Given the description of an element on the screen output the (x, y) to click on. 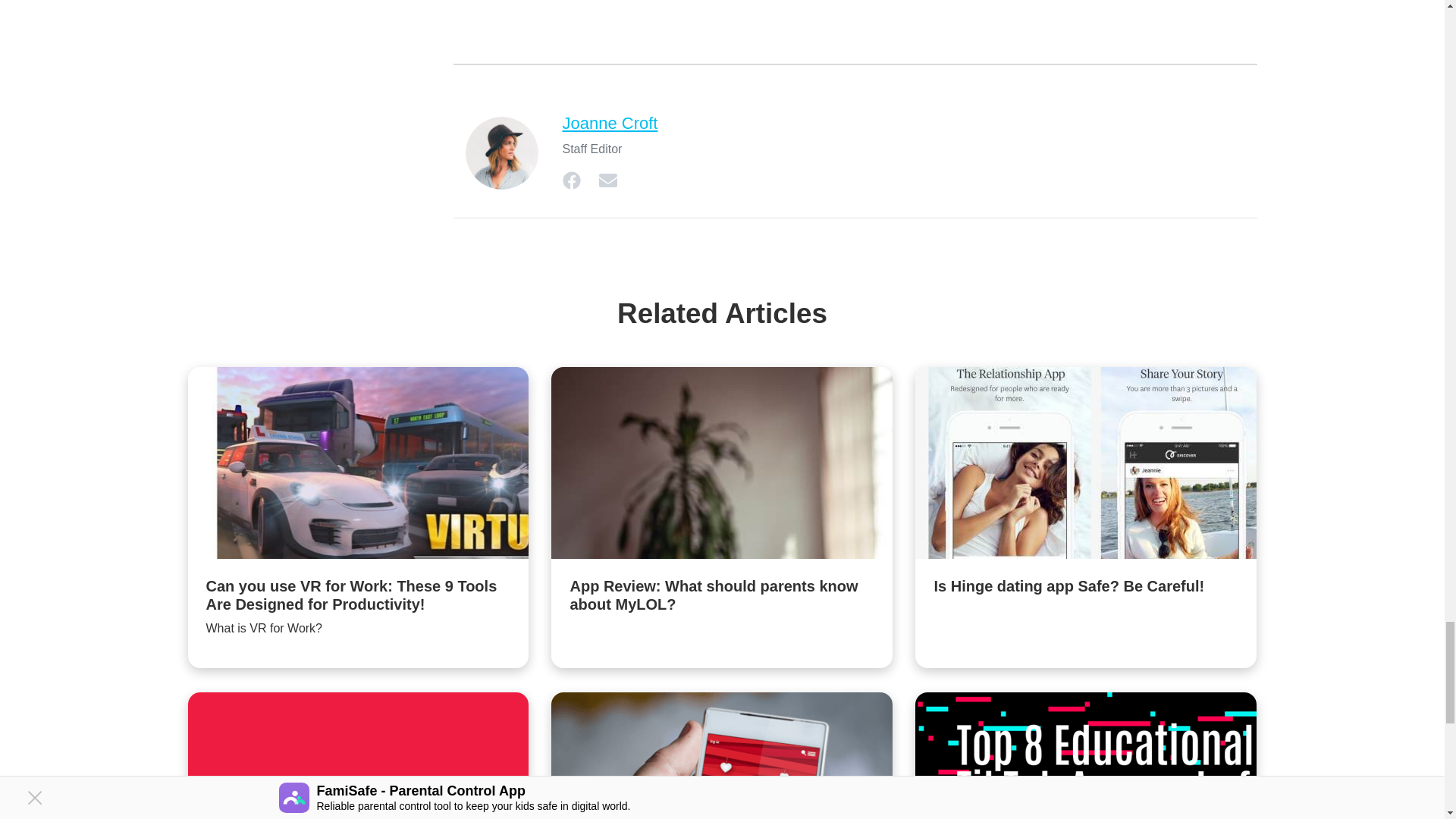
Top 8 Educational TikTok Accounts for Kids (1085, 755)
App Review: What should parents know about MyLOL? (721, 504)
Is Hinge dating app Safe? Be Careful! (1085, 495)
App Review: What should parents know about Meetup? (358, 755)
